Given the description of an element on the screen output the (x, y) to click on. 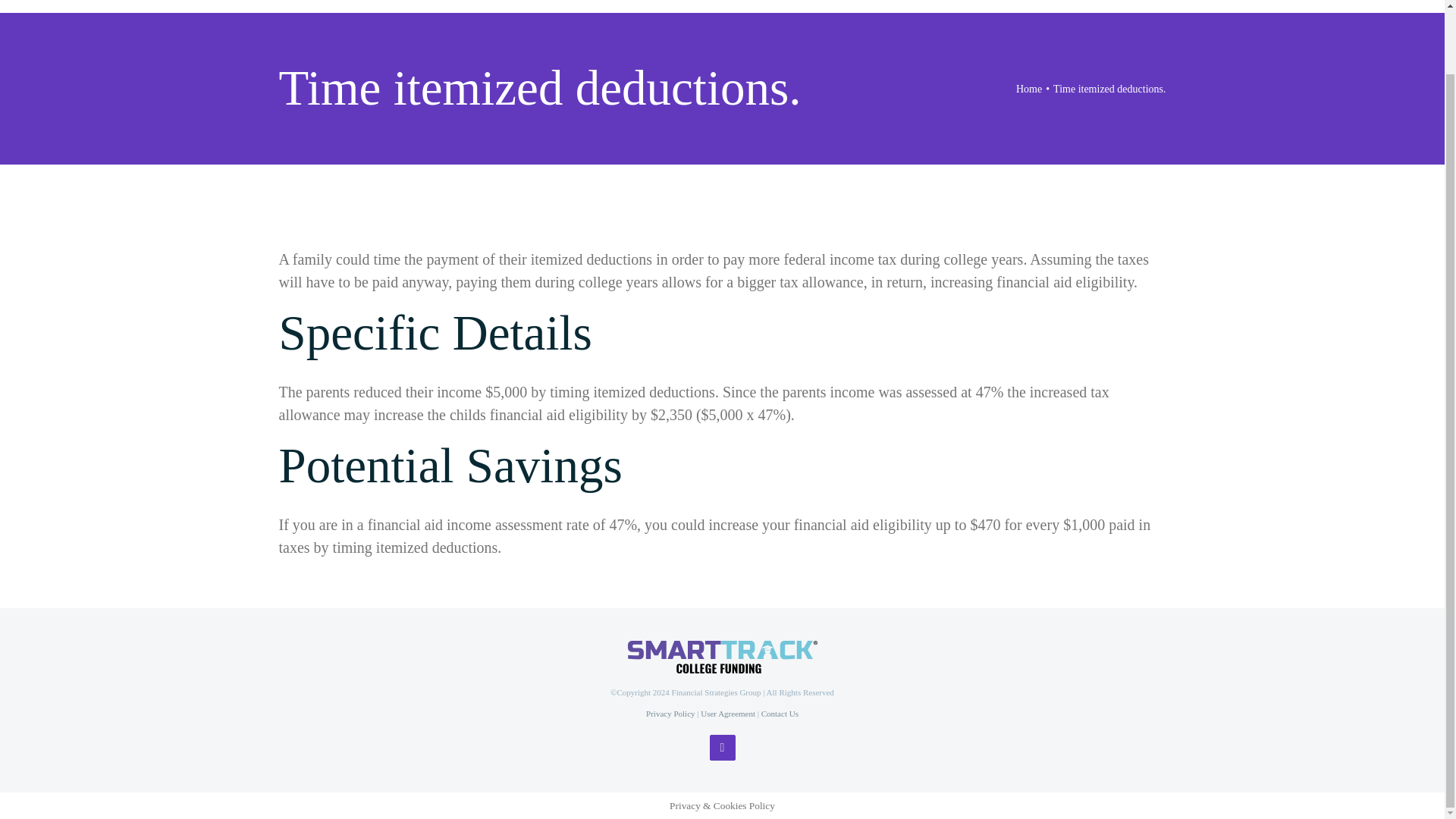
CREATE ACCOUNT (1203, 2)
User Agreement (727, 713)
ABOUT (746, 2)
LOGIN (1351, 2)
Facebook (722, 747)
FEATURES (662, 2)
RESOURCES (1052, 2)
Facebook (722, 747)
COOPERATIVE PROGRAMS (887, 2)
HOME (582, 2)
